Given the description of an element on the screen output the (x, y) to click on. 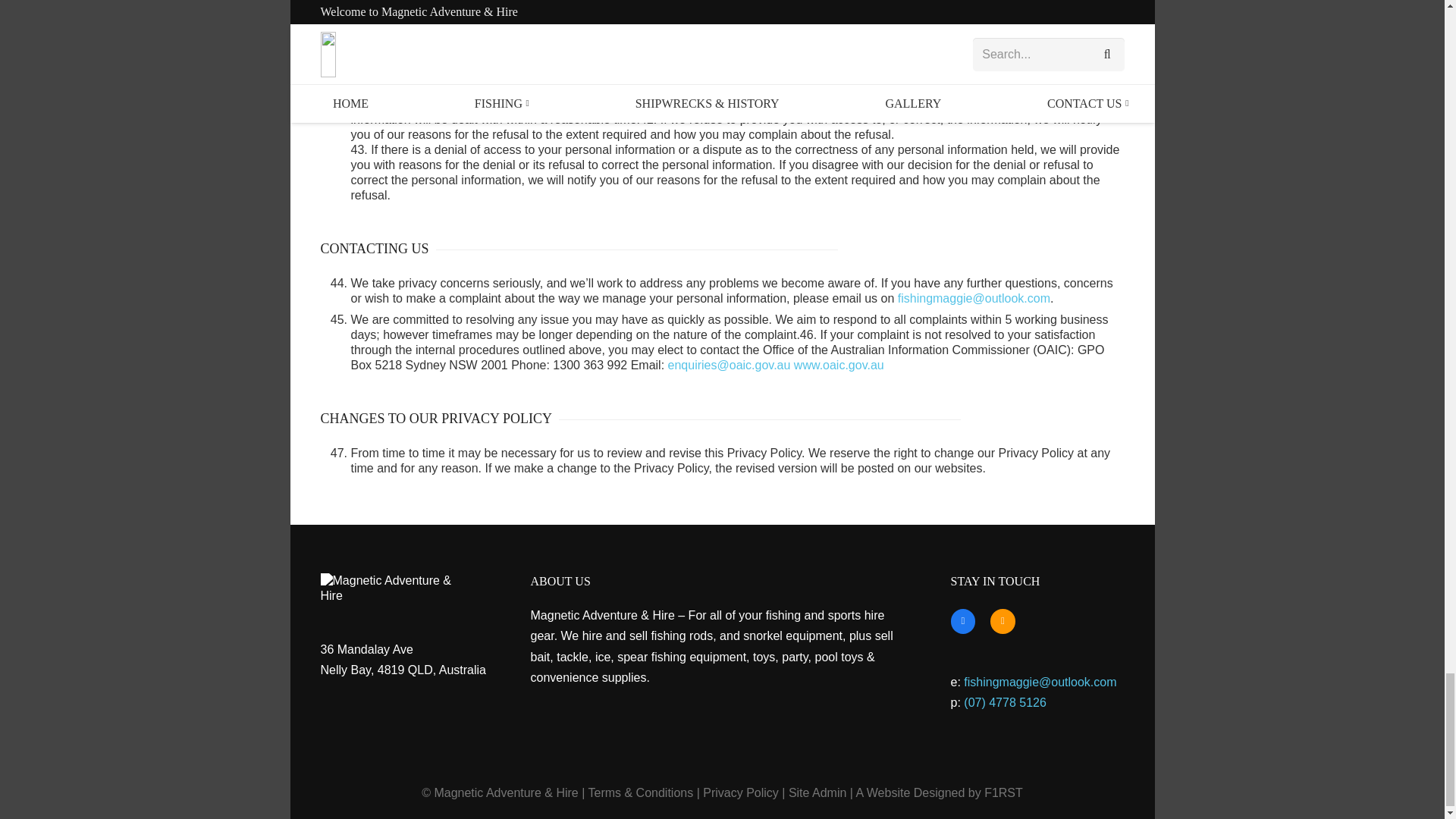
Site Admin (817, 792)
Facebook (962, 621)
RSS (1002, 621)
www.oaic.gov.au (838, 364)
Privacy Policy (740, 792)
A Website Designed by F1RST (939, 792)
Home (395, 588)
